Given the description of an element on the screen output the (x, y) to click on. 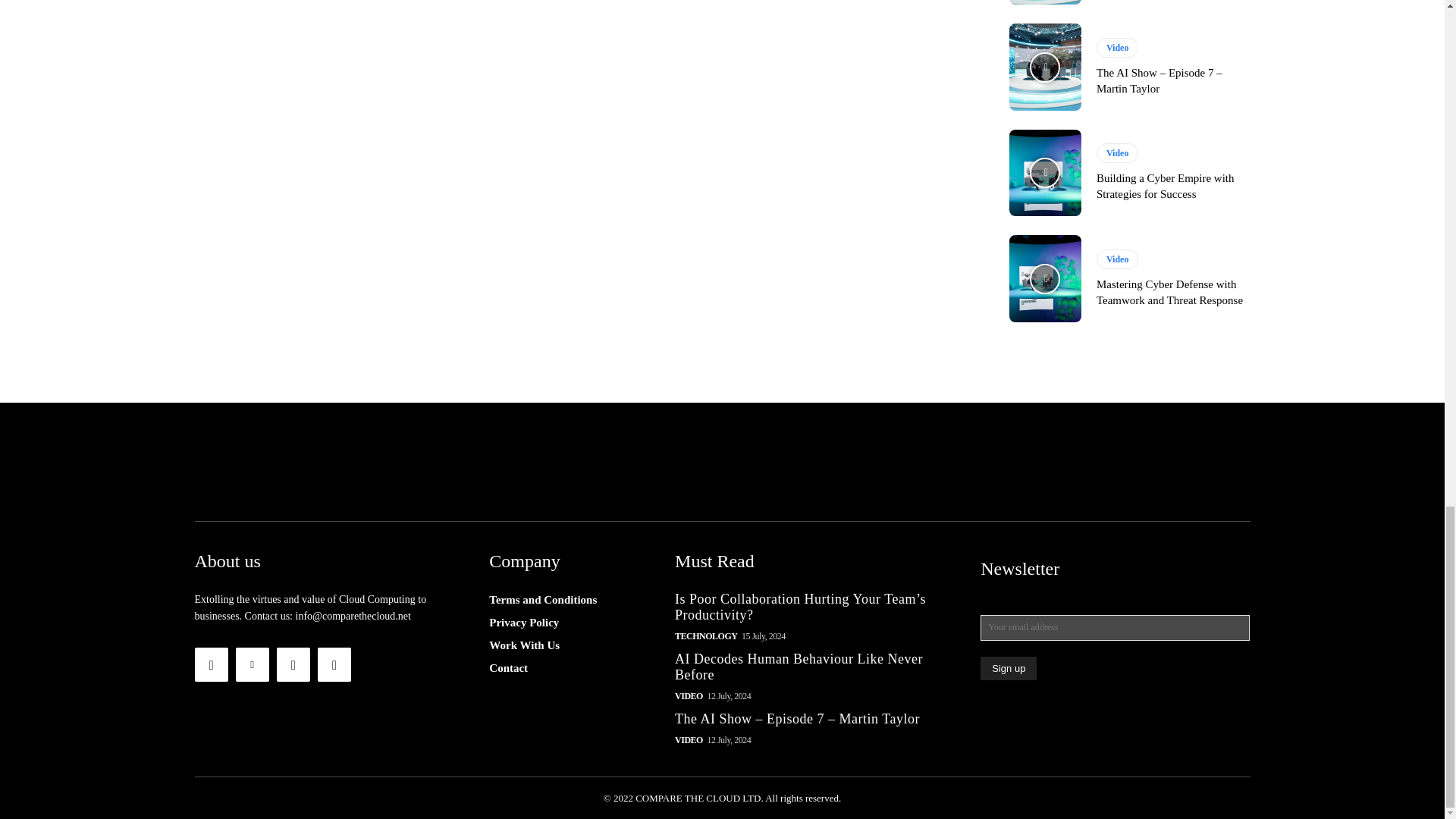
Sign up (1007, 668)
